Given the description of an element on the screen output the (x, y) to click on. 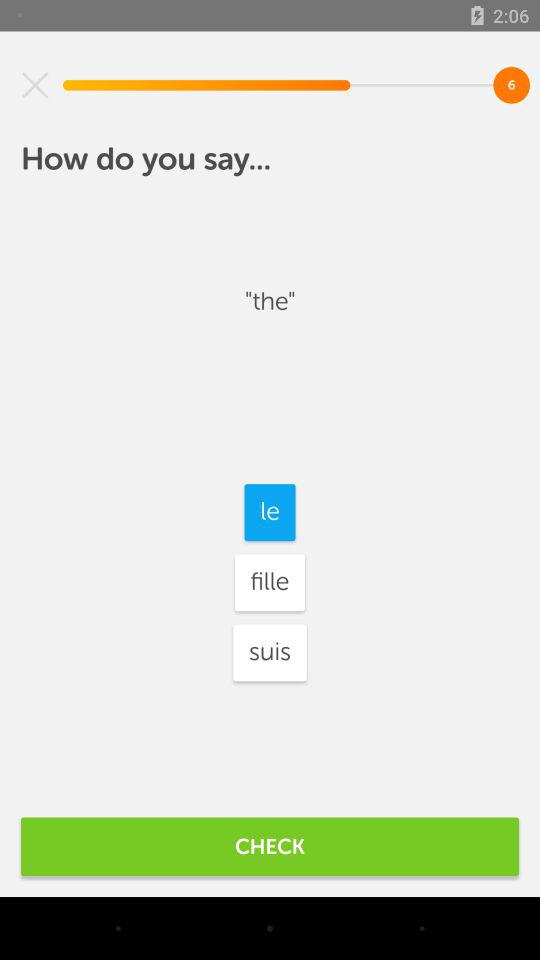
flip until the fille item (269, 582)
